Given the description of an element on the screen output the (x, y) to click on. 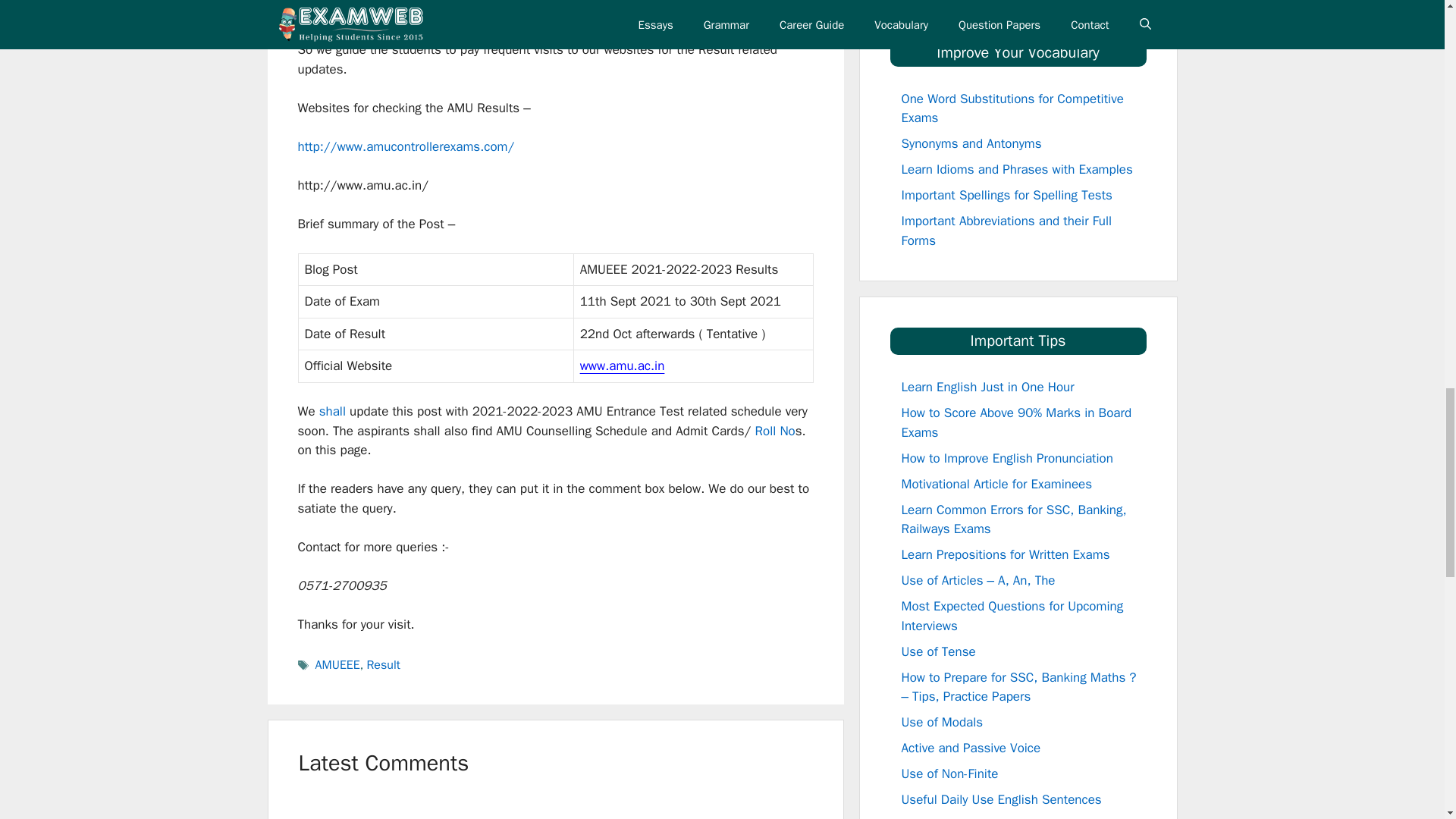
Roll No (774, 430)
AMUEEE (337, 664)
shall (330, 411)
Result (382, 664)
